Given the description of an element on the screen output the (x, y) to click on. 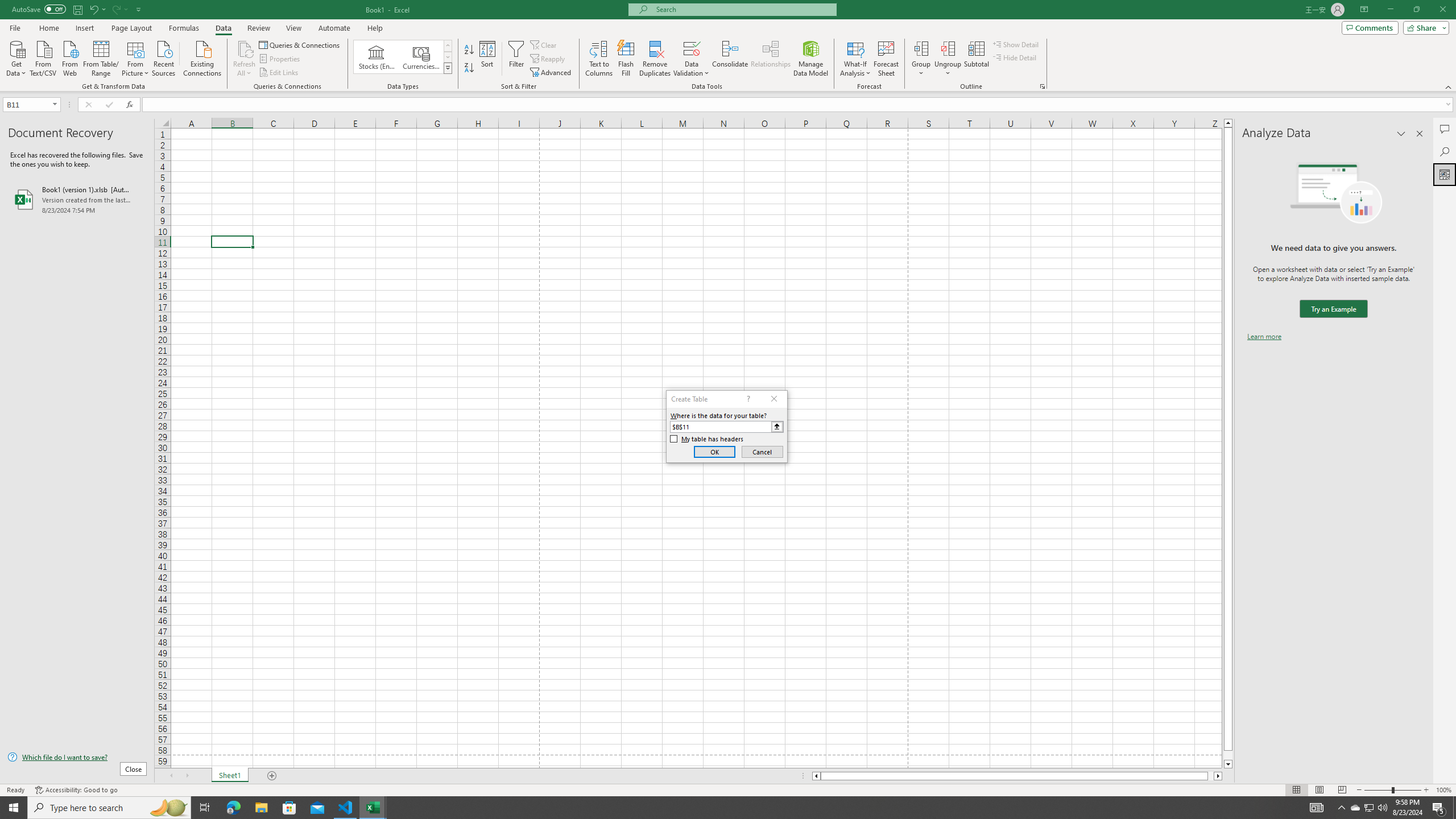
Group and Outline Settings (1042, 85)
Sort Z to A (469, 67)
Recent Sources (163, 57)
Existing Connections (202, 57)
Remove Duplicates (654, 58)
Filter (515, 58)
